Given the description of an element on the screen output the (x, y) to click on. 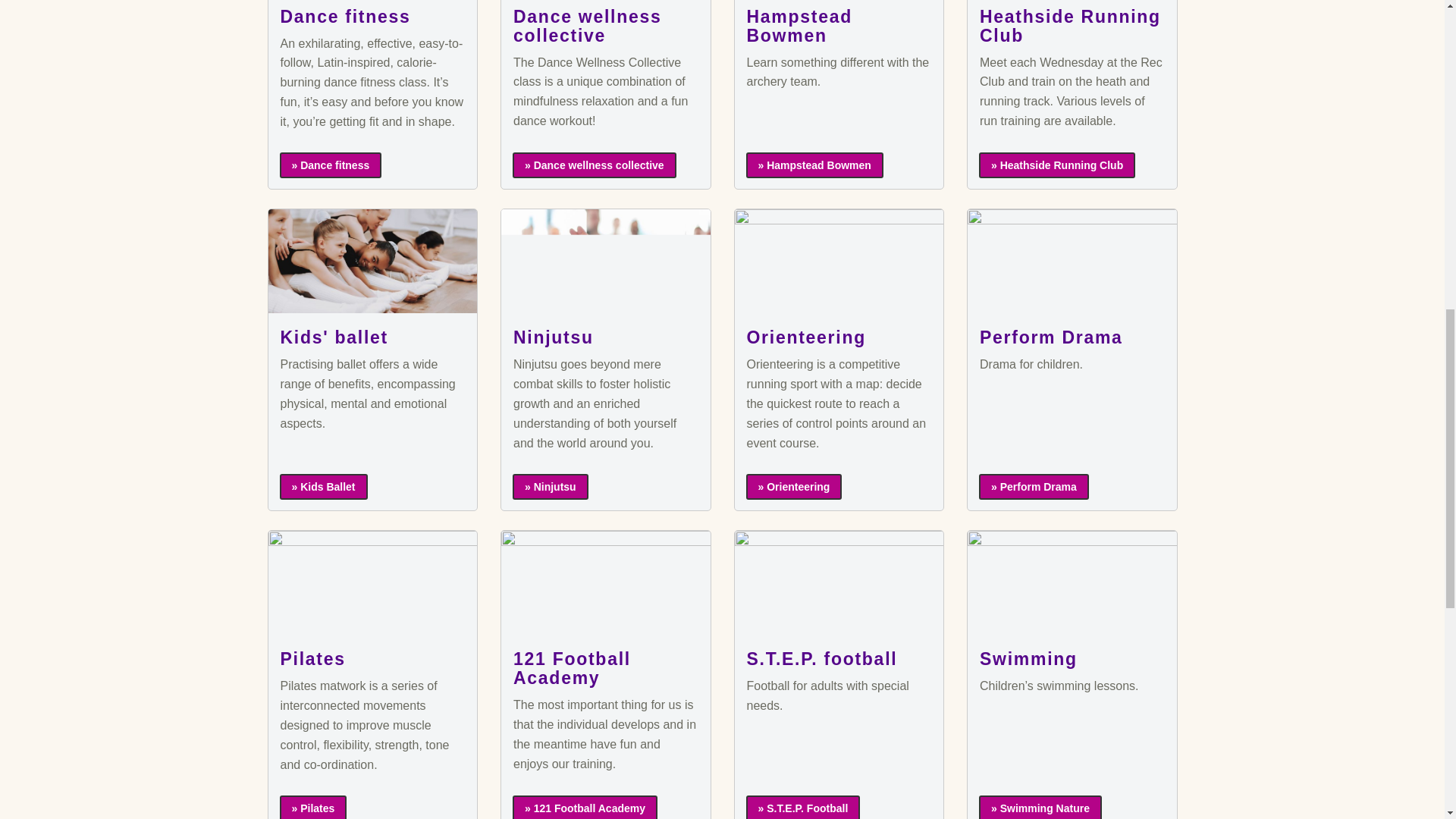
Dance Wellness Collective (594, 165)
Dance Fitness (330, 165)
Hampstead Bowmen (814, 165)
